Given the description of an element on the screen output the (x, y) to click on. 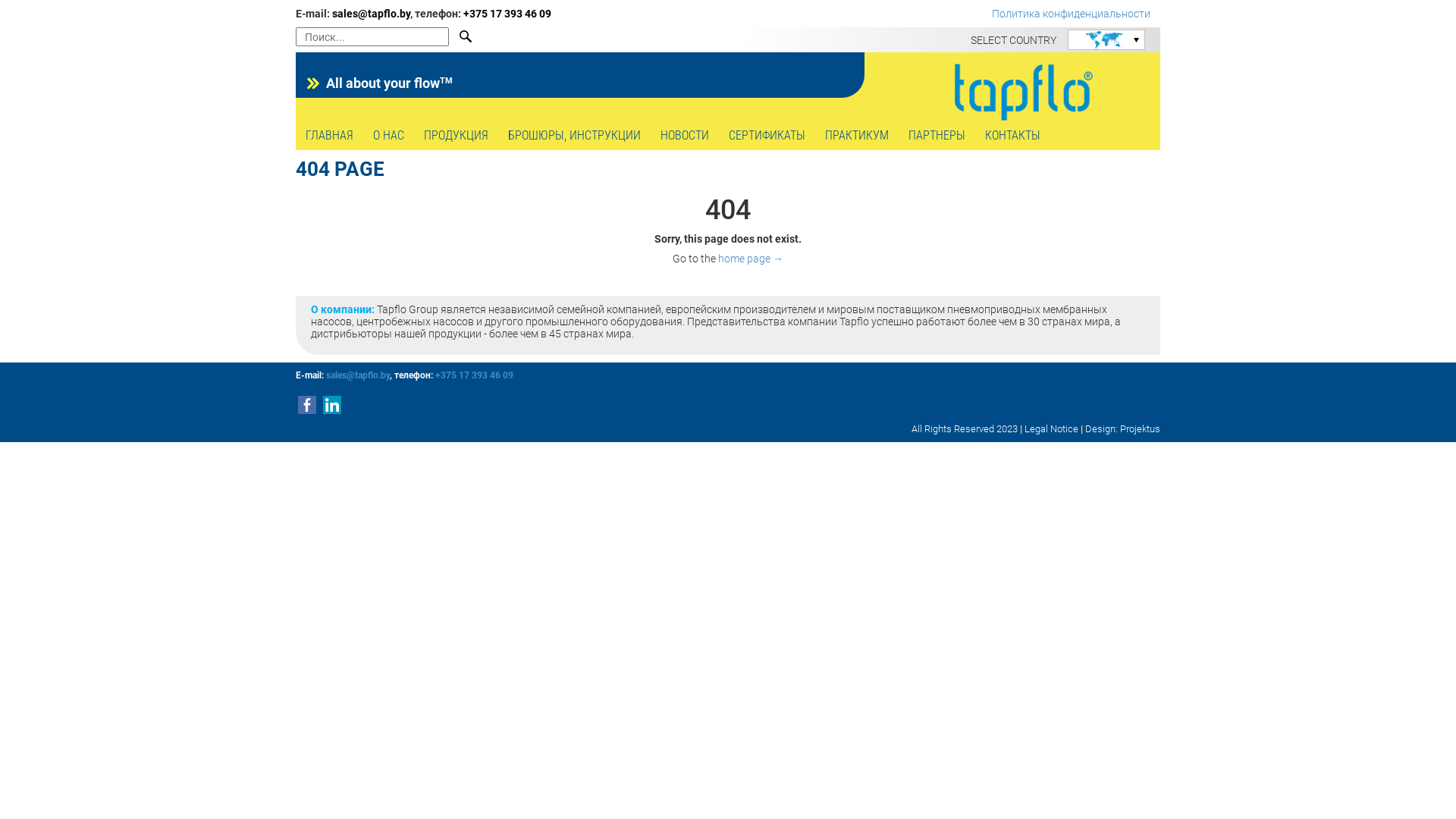
sales@tapflo.by Element type: text (371, 13)
+375 17 393 46 09 Element type: text (507, 13)
sales@tapflo.by Element type: text (357, 375)
Search Element type: text (466, 36)
Projektus Element type: text (1140, 428)
+375 17 393 46 09 Element type: text (474, 375)
